Given the description of an element on the screen output the (x, y) to click on. 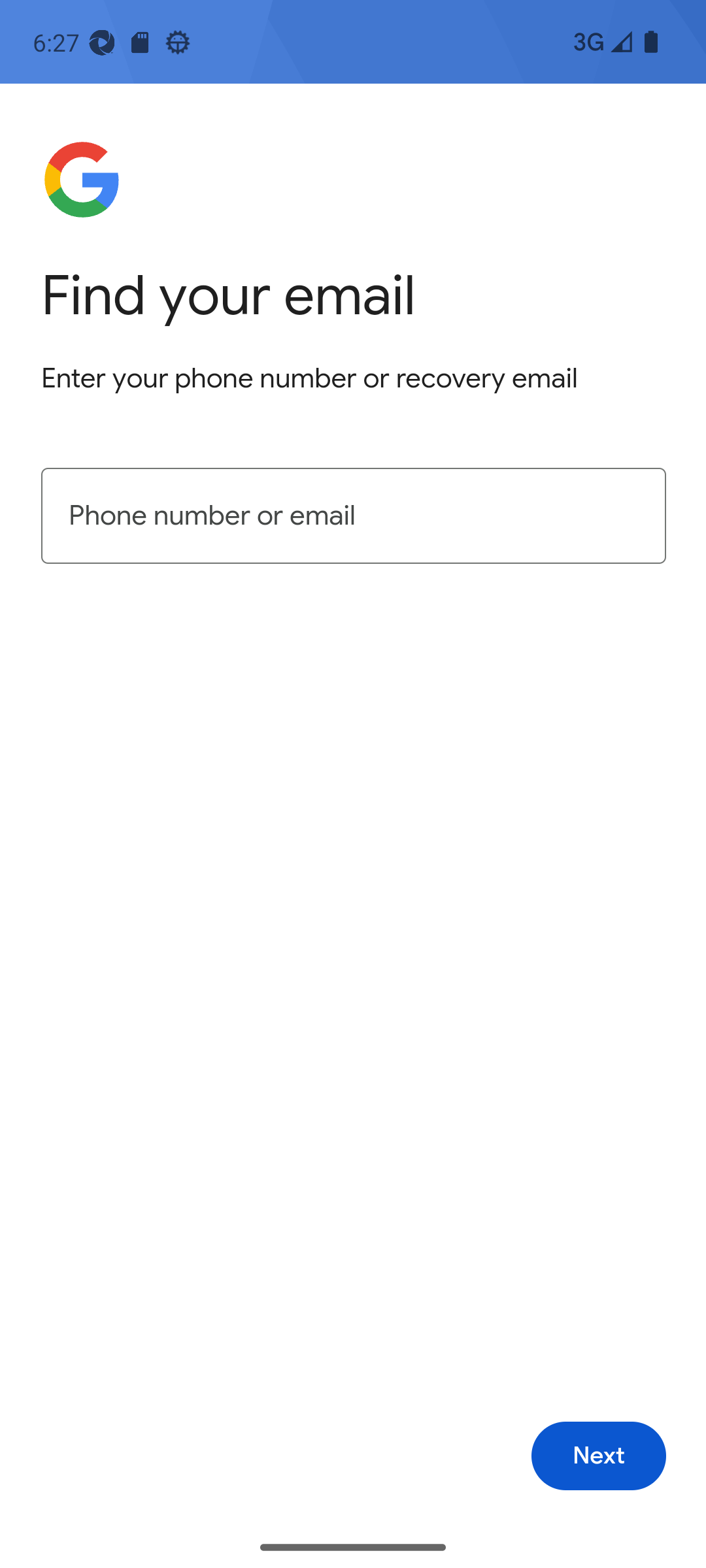
Next (598, 1455)
